Given the description of an element on the screen output the (x, y) to click on. 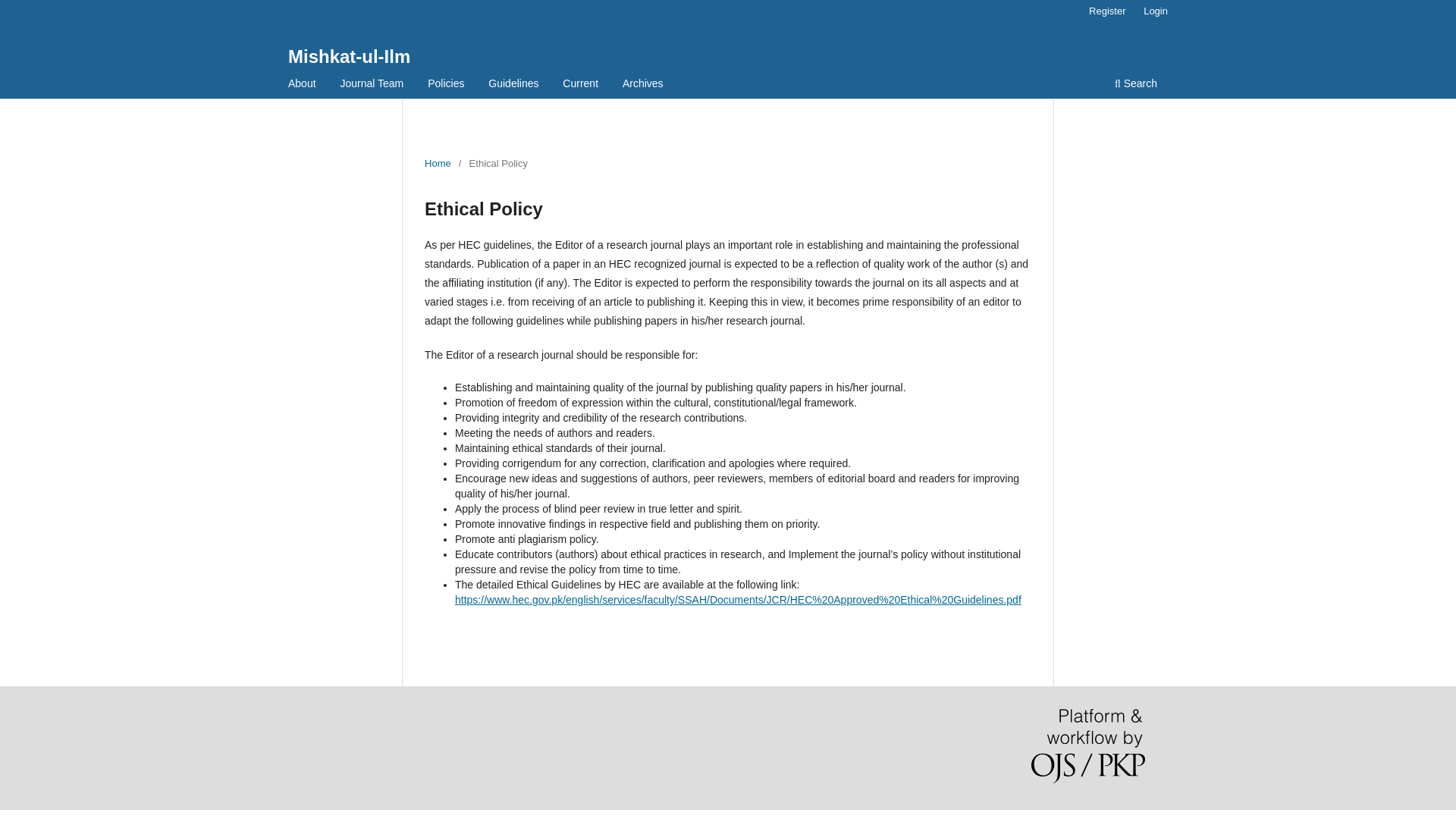
Journal Team (371, 85)
Mishkat-ul-Ilm (349, 56)
Current (580, 85)
Search (1135, 85)
Policies (445, 85)
Archives (642, 85)
Register (1106, 11)
Guidelines (513, 85)
About (301, 85)
Home (438, 163)
Login (1154, 11)
